Given the description of an element on the screen output the (x, y) to click on. 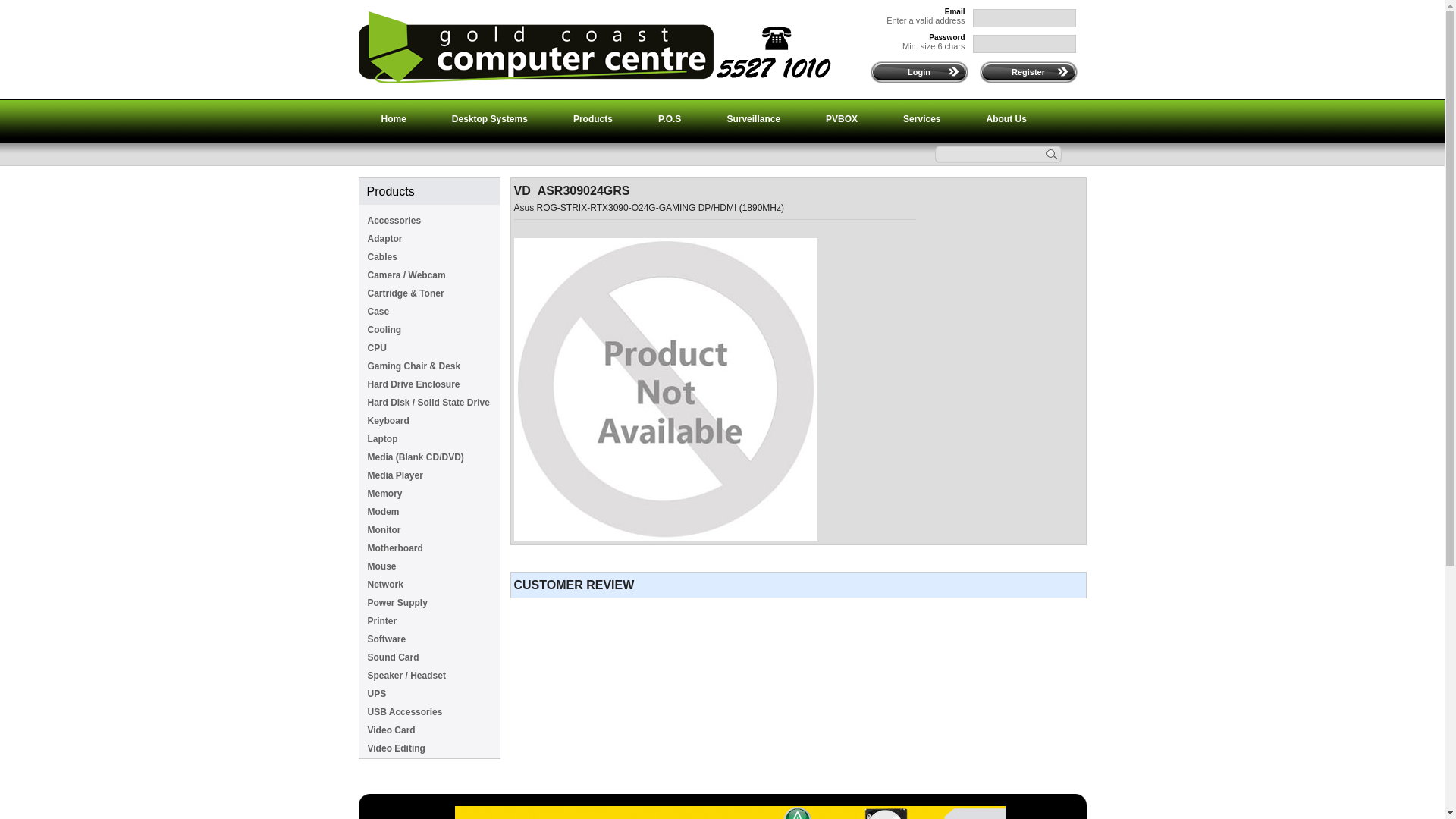
Accessories Element type: text (432, 220)
Hard Drive Enclosure Element type: text (432, 384)
CPU Element type: text (432, 347)
About Us Element type: text (1005, 119)
Keyboard Element type: text (432, 420)
Power Supply Element type: text (432, 602)
Desktop Systems Element type: text (489, 119)
Video Card Element type: text (432, 729)
USB Accessories Element type: text (432, 711)
Gaming Chair & Desk Element type: text (432, 365)
Hard Disk / Solid State Drive Element type: text (432, 402)
Products Element type: text (592, 119)
Mouse Element type: text (432, 566)
P.O.S Element type: text (669, 119)
Software Element type: text (432, 638)
Speaker / Headset Element type: text (432, 675)
search Element type: text (1051, 155)
Case Element type: text (432, 311)
Laptop Element type: text (432, 438)
Services Element type: text (921, 119)
Motherboard Element type: text (432, 547)
Home Element type: text (392, 119)
Adaptor Element type: text (432, 238)
Memory Element type: text (432, 493)
Sound Card Element type: text (432, 657)
UPS Element type: text (432, 693)
Login Element type: text (919, 71)
Media (Blank CD/DVD) Element type: text (432, 456)
Cables Element type: text (432, 256)
Monitor Element type: text (432, 529)
PVBOX Element type: text (841, 119)
Camera / Webcam Element type: text (432, 274)
Register Element type: text (1028, 71)
Media Player Element type: text (432, 475)
Cartridge & Toner Element type: text (432, 293)
Surveillance Element type: text (753, 119)
Network Element type: text (432, 584)
Modem Element type: text (432, 511)
Printer Element type: text (432, 620)
Video Editing Element type: text (432, 748)
Cooling Element type: text (432, 329)
